Given the description of an element on the screen output the (x, y) to click on. 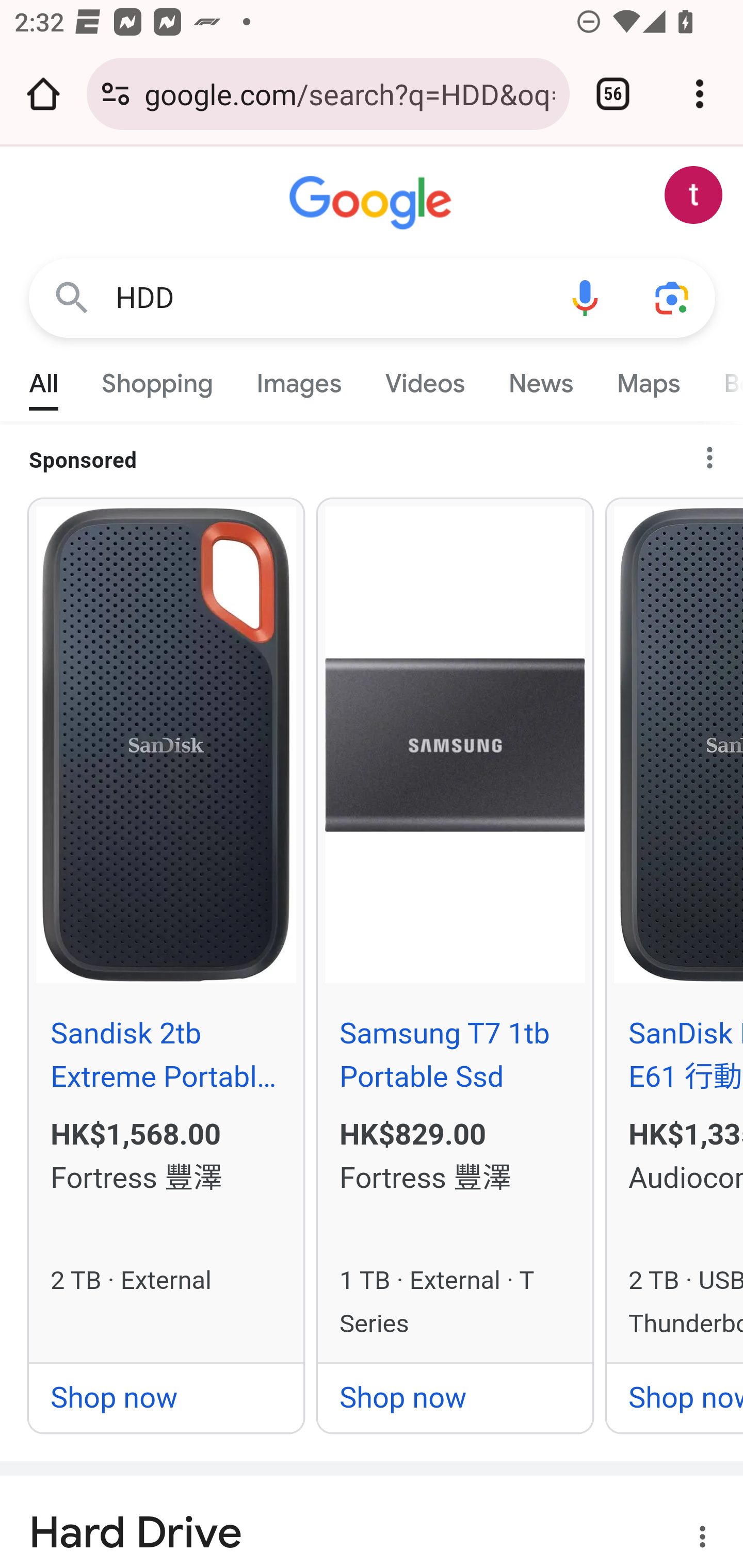
Open the home page (43, 93)
Connection is secure (115, 93)
Switch or close tabs (612, 93)
Customize and control Google Chrome (699, 93)
Google (372, 203)
Google Search (71, 296)
Search using your camera or photos (672, 296)
HDD (328, 297)
Shopping (157, 378)
Images (299, 378)
Videos (424, 378)
News (540, 378)
Maps (647, 378)
Why this ad? (718, 451)
Shop now Shop now Shop now (165, 1397)
Shop now Shop now Shop now (455, 1397)
Shop now Shop now Shop now (675, 1397)
More options (690, 1538)
